Given the description of an element on the screen output the (x, y) to click on. 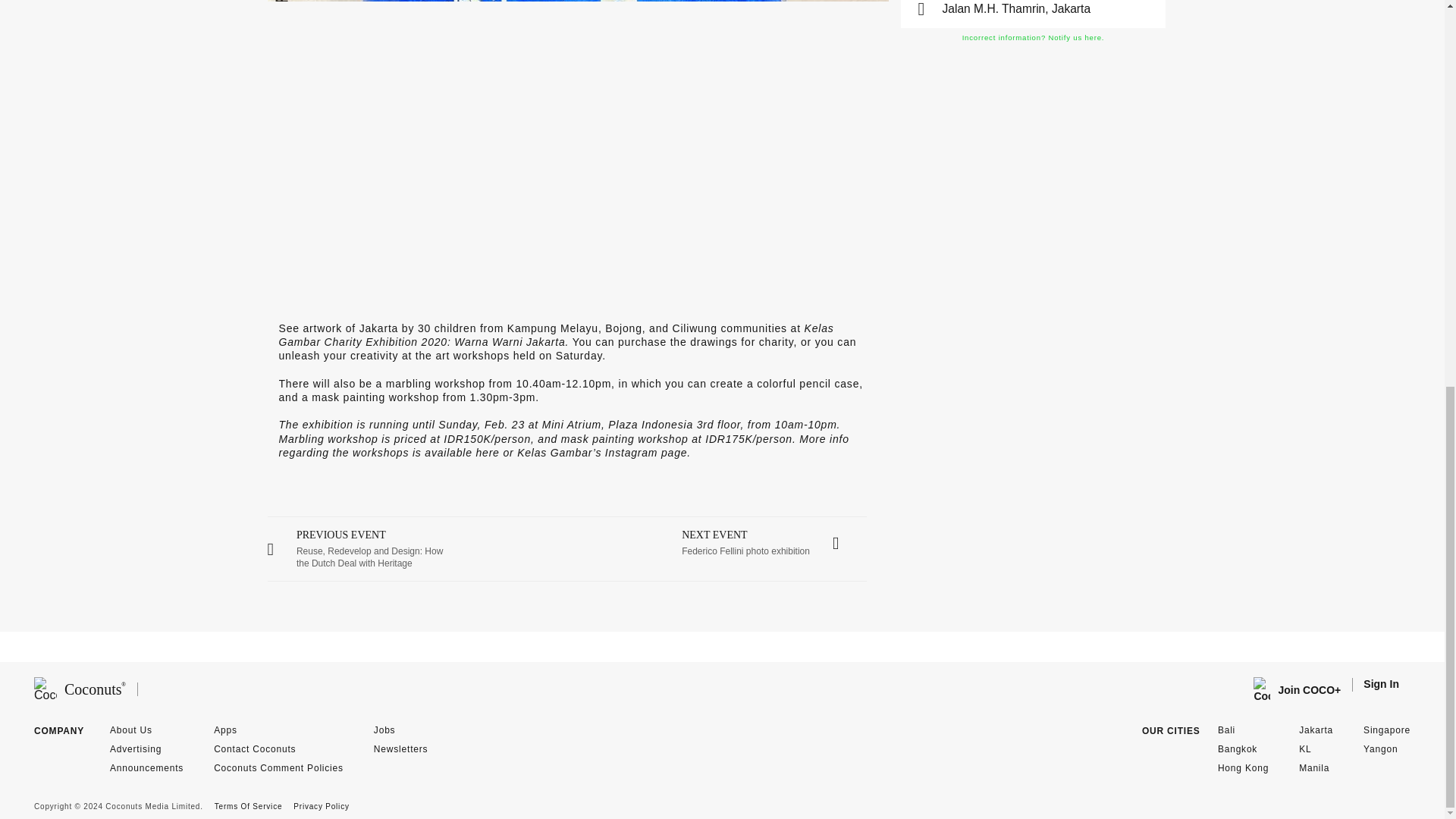
Advertising (135, 748)
Apps (225, 729)
Terms Of Service (248, 806)
Hong Kong (773, 542)
Jobs (1242, 767)
Incorrect information? Notify us here. (385, 729)
Singapore (1033, 37)
Jalan M.H. Thamrin, Jakarta (1386, 729)
